Given the description of an element on the screen output the (x, y) to click on. 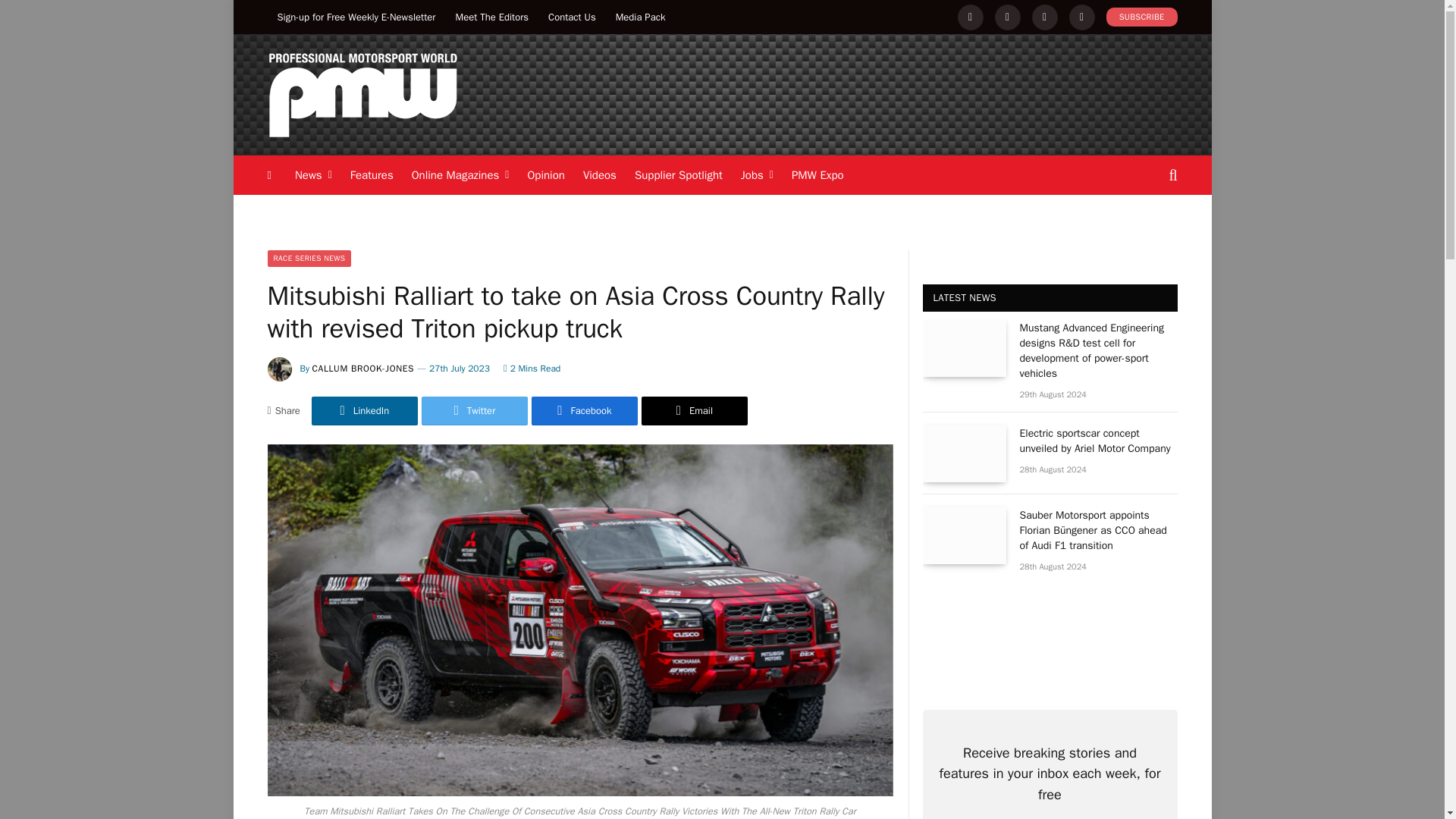
Professional Motorsport World (361, 94)
Share on Facebook (584, 410)
Share on Twitter (474, 410)
Posts by Callum Brook-Jones (363, 368)
Share via Email (695, 410)
Share on LinkedIn (364, 410)
